Given the description of an element on the screen output the (x, y) to click on. 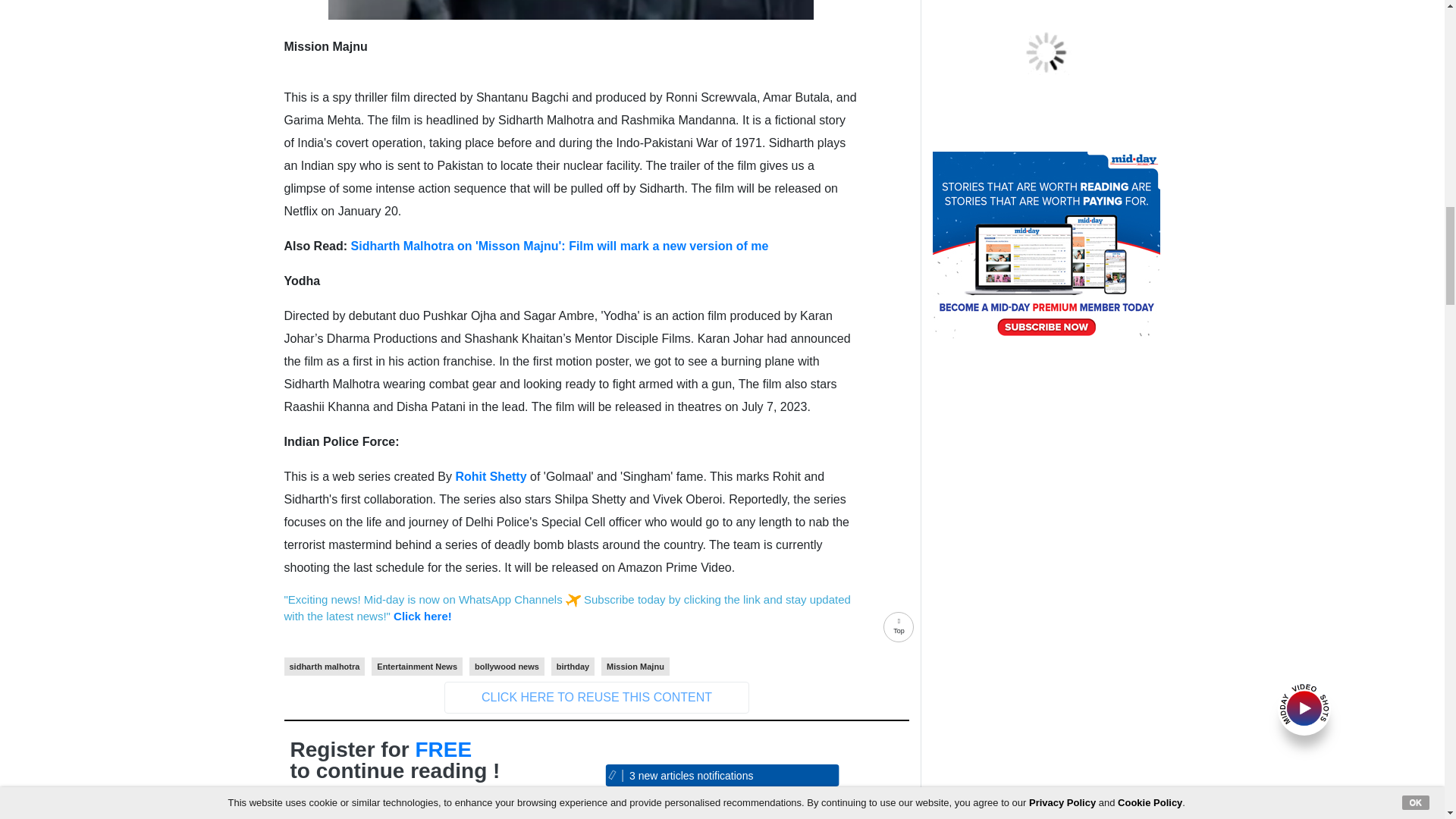
Top (898, 630)
